Given the description of an element on the screen output the (x, y) to click on. 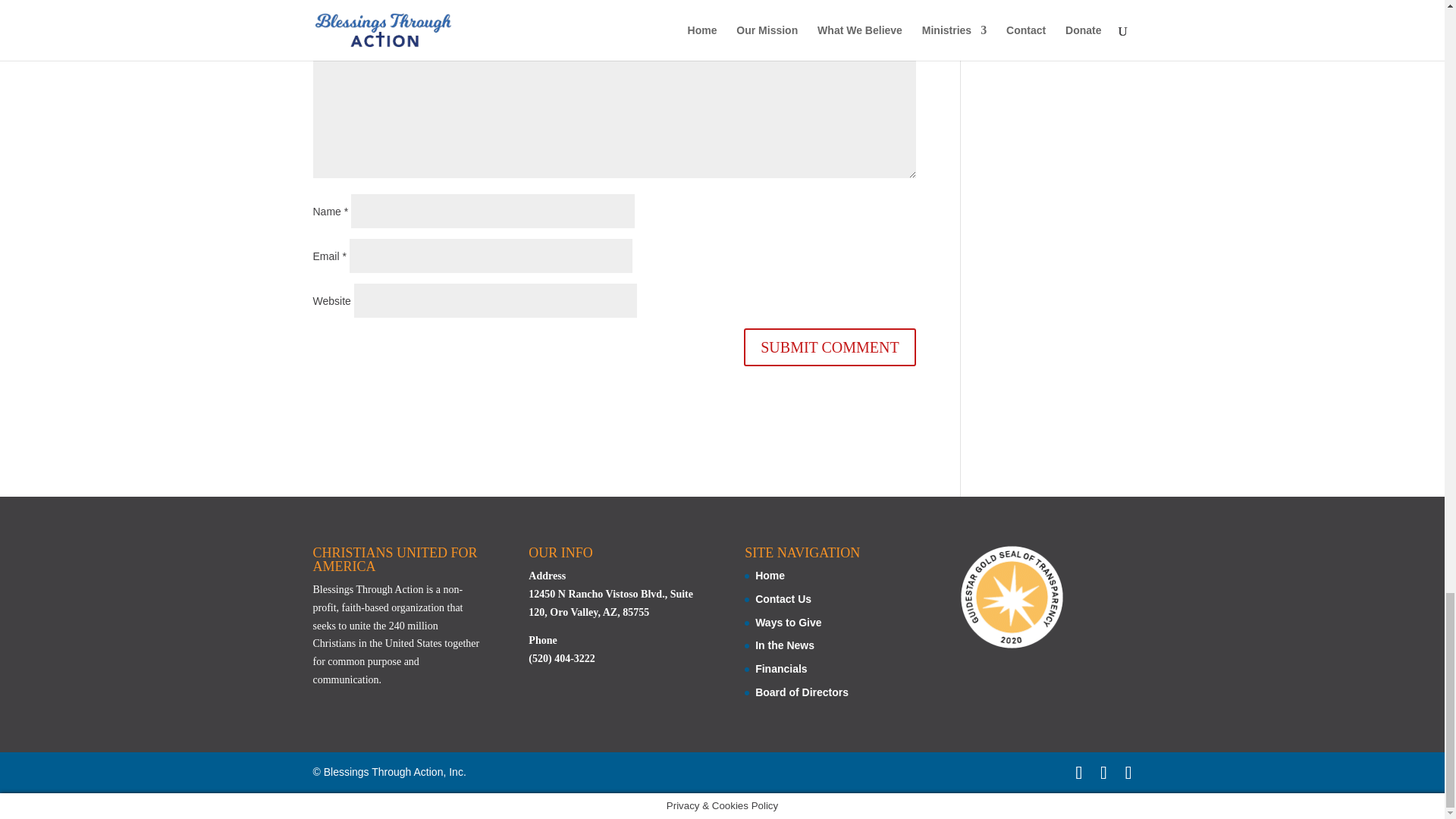
Financials (780, 668)
Home (769, 575)
Board of Directors (801, 692)
Ways to Give (788, 622)
Submit Comment (829, 347)
Submit Comment (829, 347)
In the News (784, 645)
Contact Us (782, 598)
